Given the description of an element on the screen output the (x, y) to click on. 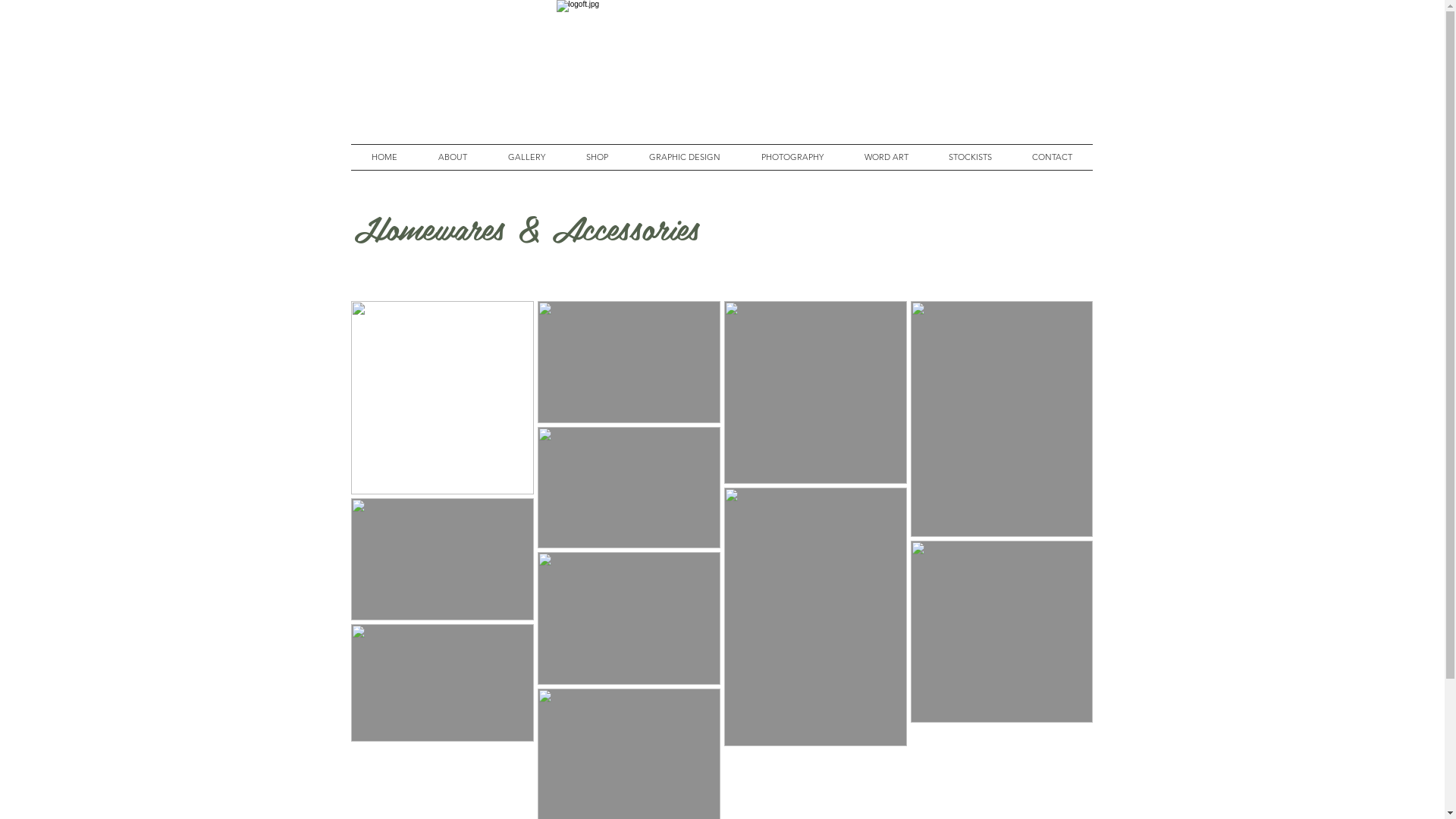
ABOUT Element type: text (451, 156)
GRAPHIC DESIGN Element type: text (683, 156)
STOCKISTS Element type: text (969, 156)
GALLERY Element type: text (525, 156)
PHOTOGRAPHY Element type: text (791, 156)
HOME Element type: text (383, 156)
CONTACT Element type: text (1051, 156)
SHOP Element type: text (596, 156)
WORD ART Element type: text (885, 156)
